Given the description of an element on the screen output the (x, y) to click on. 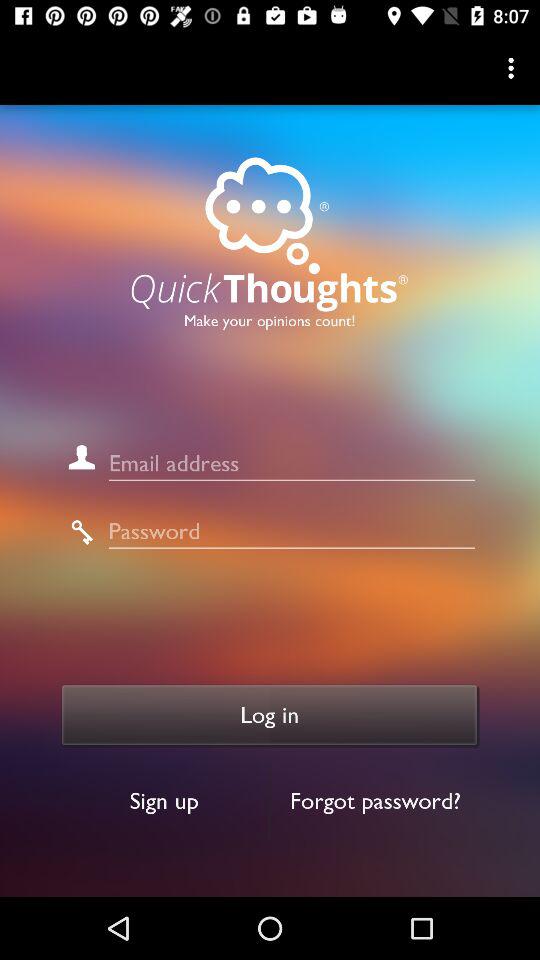
password field (291, 531)
